Given the description of an element on the screen output the (x, y) to click on. 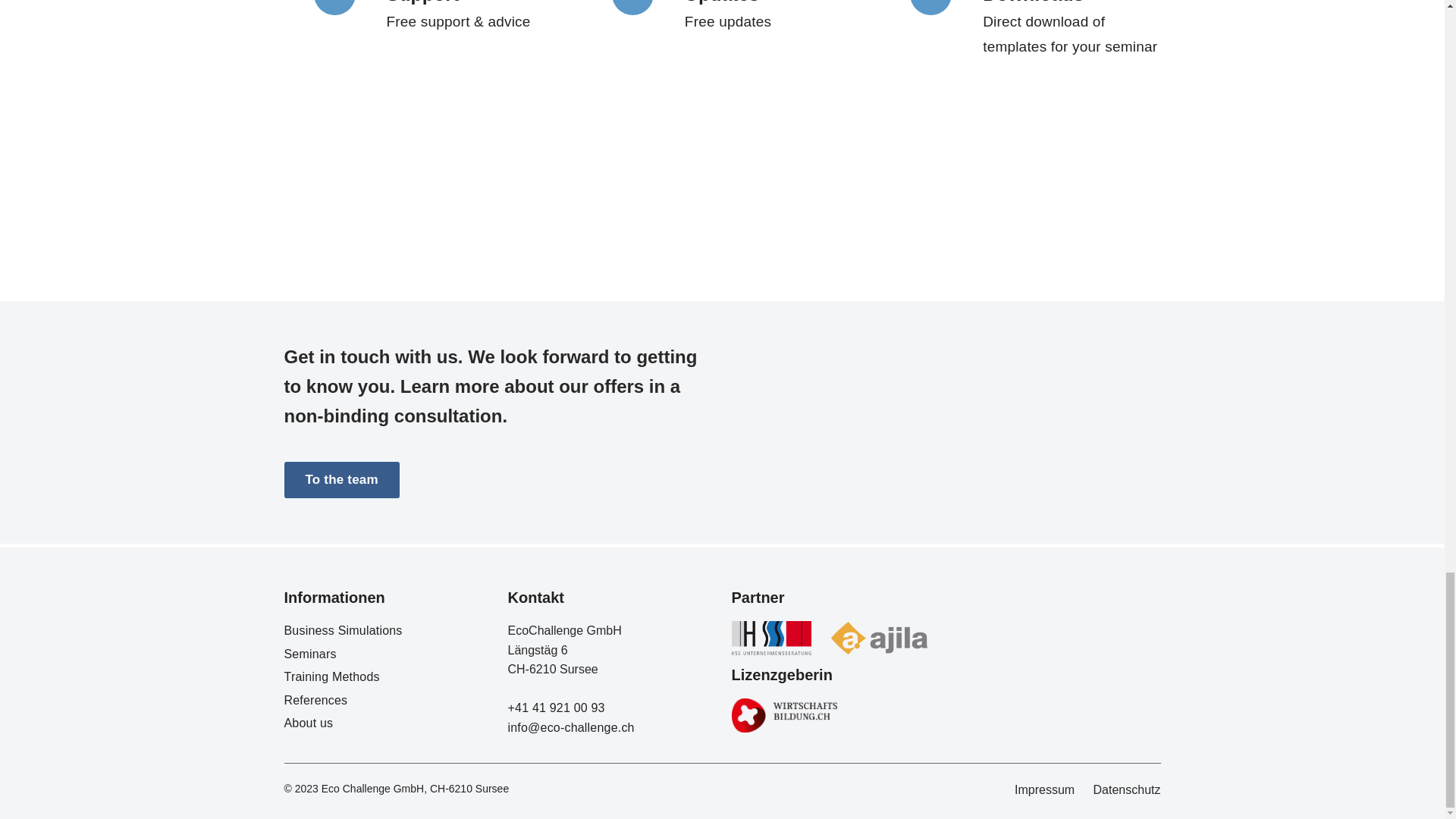
To the team (340, 479)
References (315, 699)
Seminars (309, 653)
Training Methods (330, 676)
About us (308, 722)
Business Simulations (342, 630)
